Given the description of an element on the screen output the (x, y) to click on. 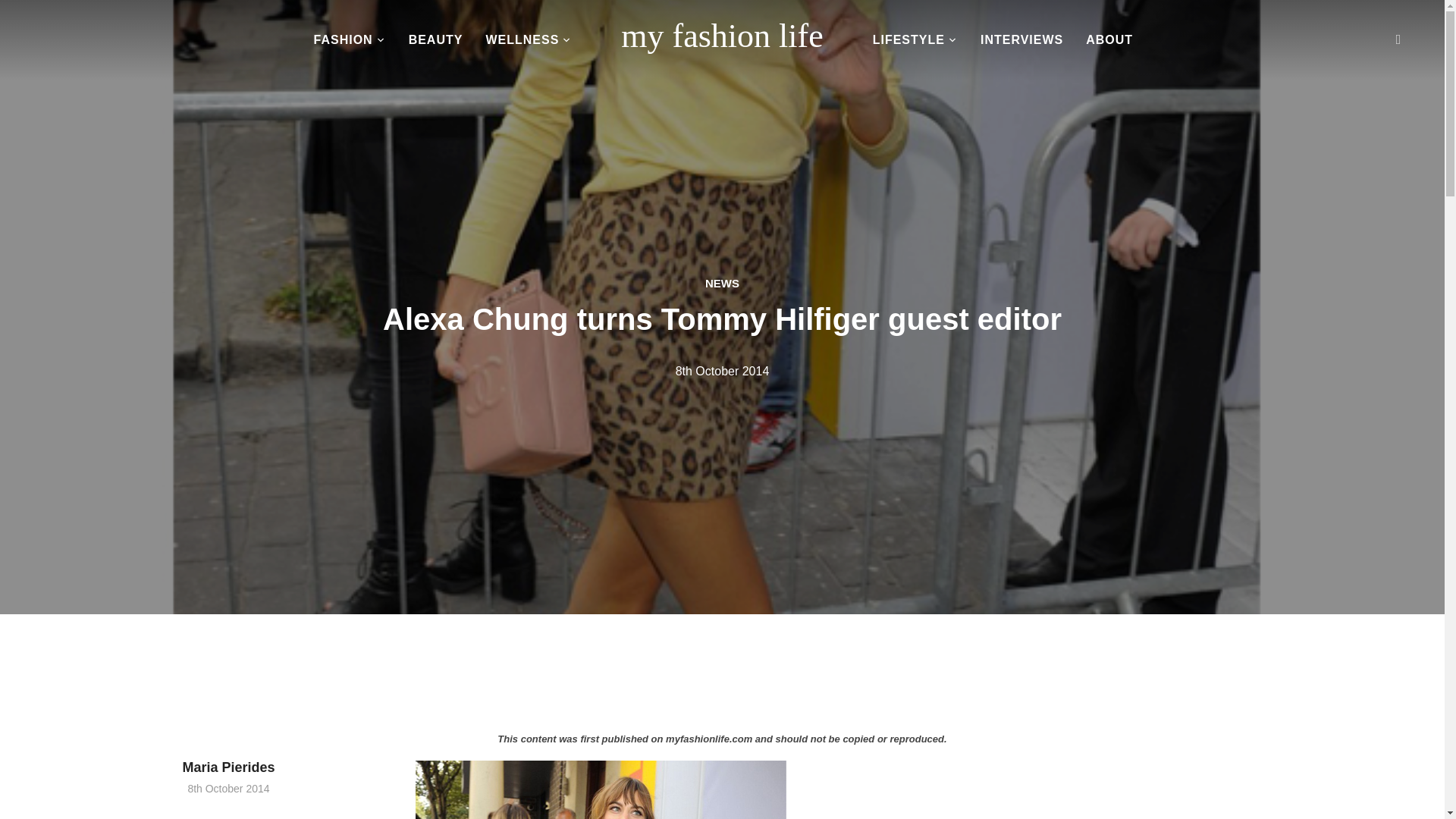
FASHION (349, 40)
WELLNESS (528, 40)
Posts by Maria Pierides (228, 766)
Fashion, Celebrities, Beauty, Food, Travel, Lifestyle (721, 35)
my fashion life (721, 35)
LIFESTYLE (915, 40)
BEAUTY (436, 40)
